Given the description of an element on the screen output the (x, y) to click on. 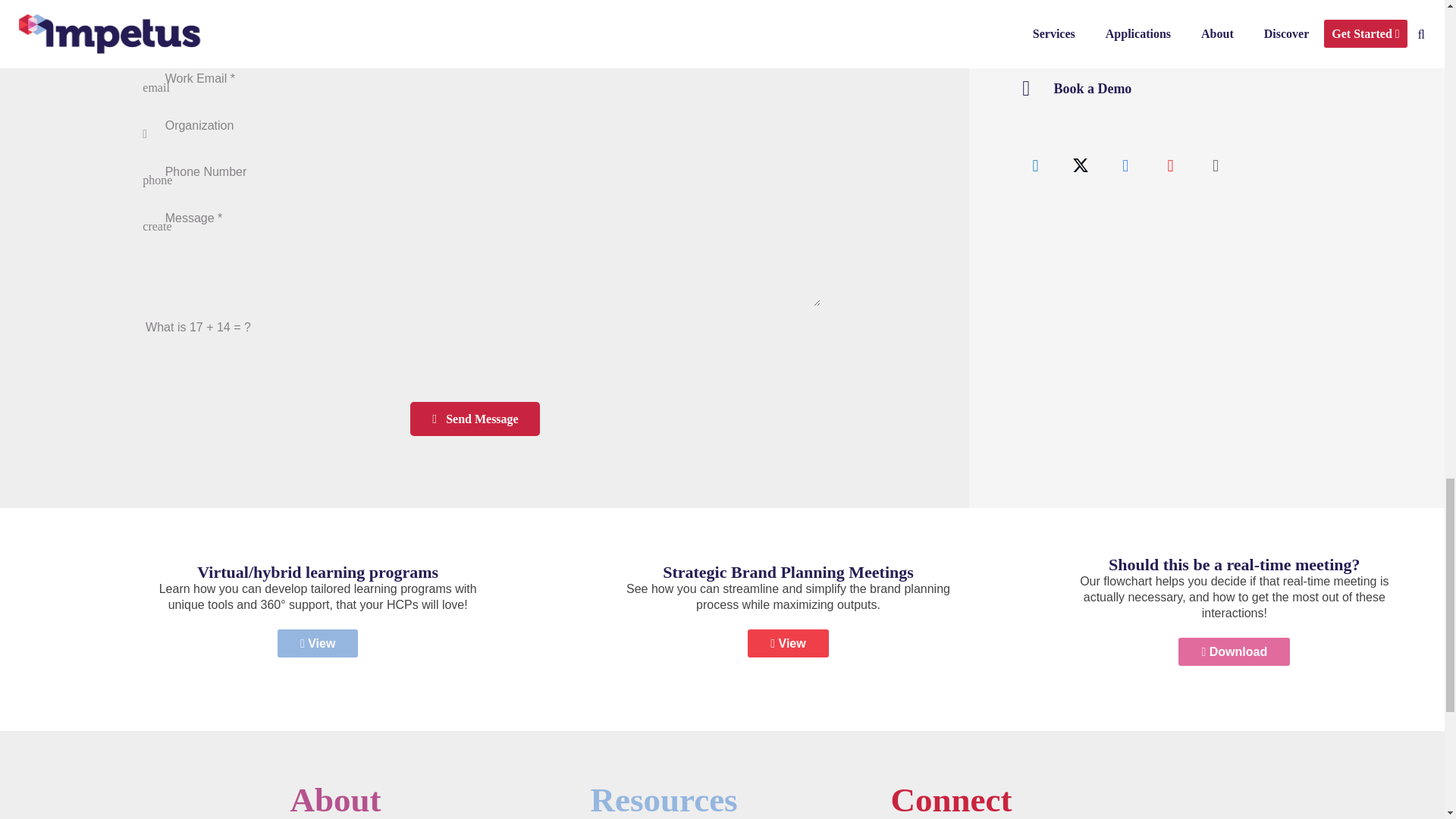
Twitter (1079, 165)
Facebook (1126, 165)
YouTube (1170, 165)
Podcast (1214, 165)
LinkedIn (1035, 165)
